Given the description of an element on the screen output the (x, y) to click on. 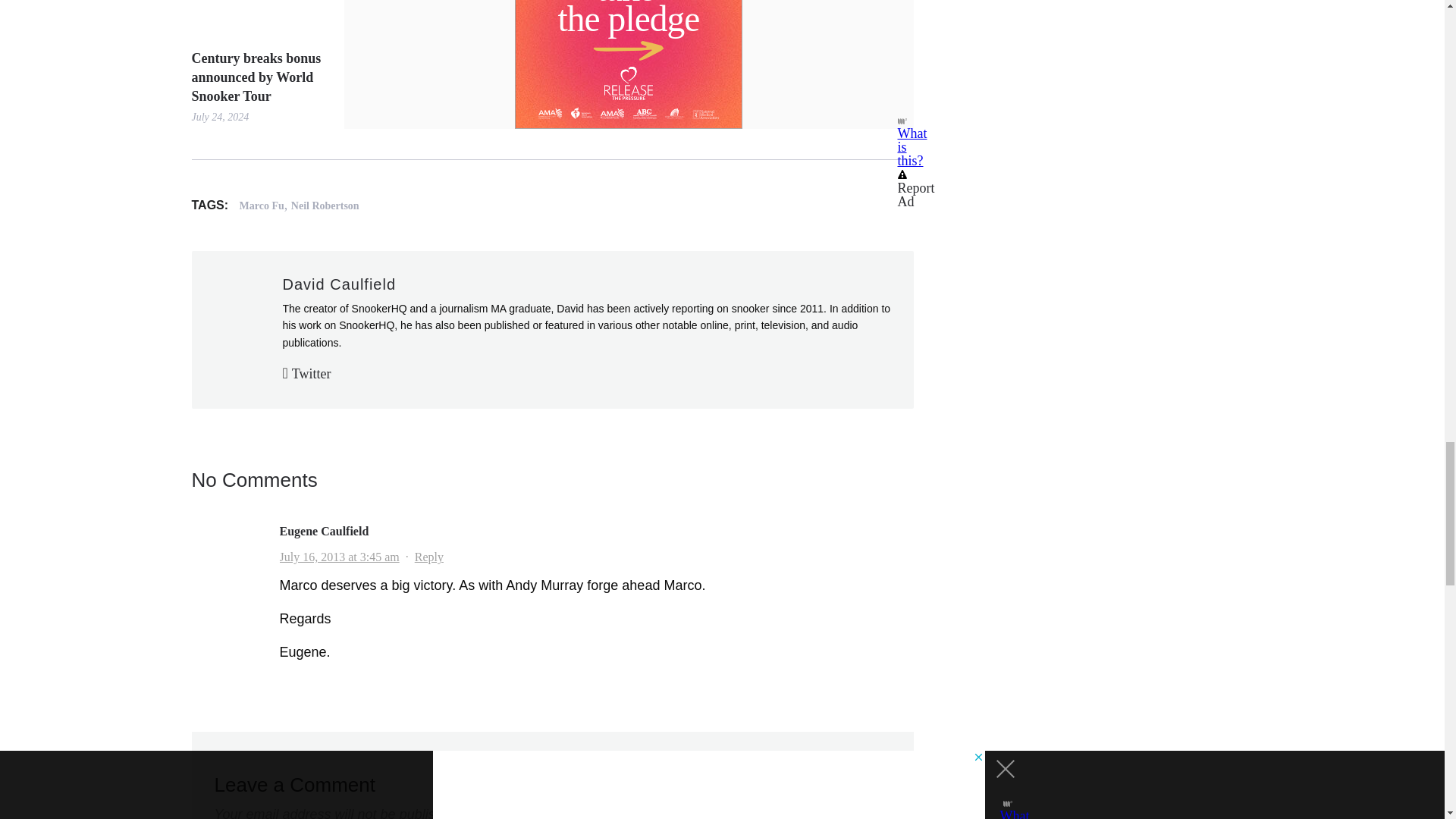
Follow David Caulfield on Twitter (306, 373)
Posts by David Caulfield (339, 284)
